Given the description of an element on the screen output the (x, y) to click on. 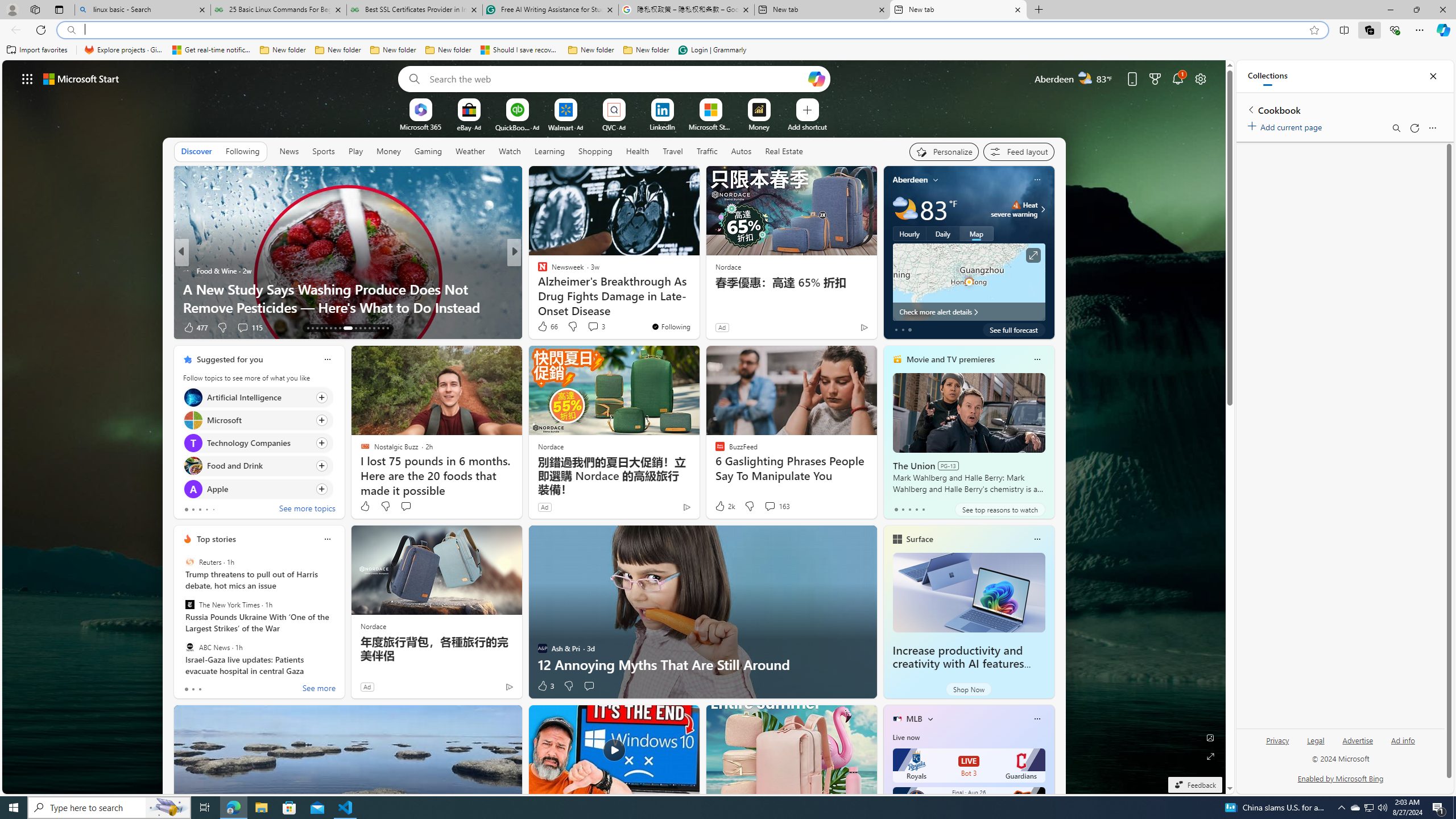
View comments 16 Comment (597, 327)
68 Like (543, 327)
Add a site (807, 126)
34 Like (543, 327)
Free AI Writing Assistance for Students | Grammarly (550, 9)
Money (387, 151)
Learning (549, 151)
Shop Now (968, 689)
